Given the description of an element on the screen output the (x, y) to click on. 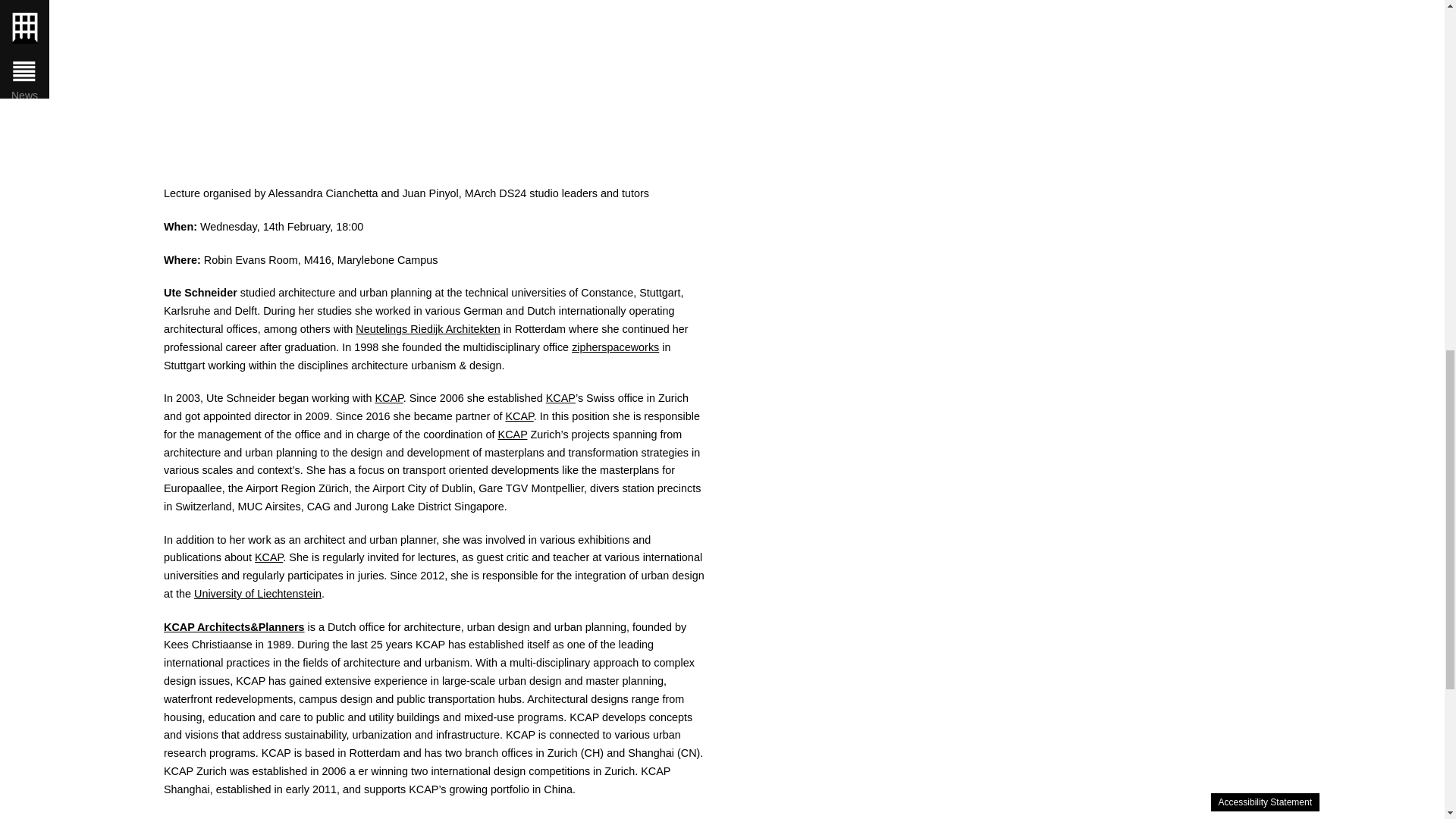
BSc AED Year 3 (94, 37)
BSc Architectural Technology (94, 64)
BSc AT Year 3 (94, 119)
BSc AT Year 2 (94, 92)
BSc AED Year 2 (94, 12)
